Given the description of an element on the screen output the (x, y) to click on. 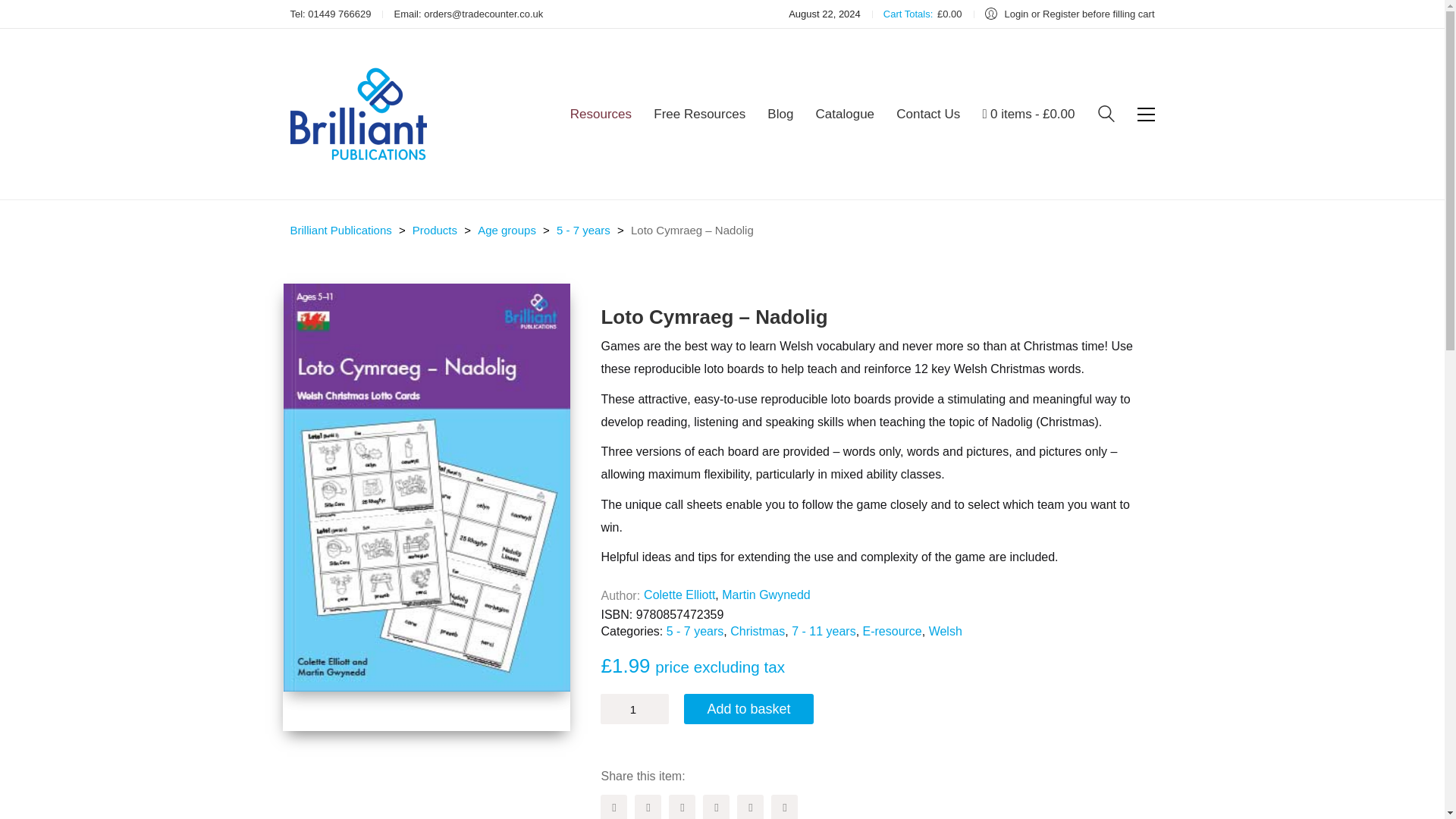
Resources (600, 114)
5 - 7 years (694, 631)
Blog (780, 114)
Go to the 5 - 7 years Category archives. (583, 230)
E-resource (892, 631)
7 - 11 years (824, 631)
Start shopping (1028, 114)
Brilliant Publications (340, 230)
Go to the Age groups Category archives. (506, 230)
Login or Register before filling cart (1069, 13)
